Given the description of an element on the screen output the (x, y) to click on. 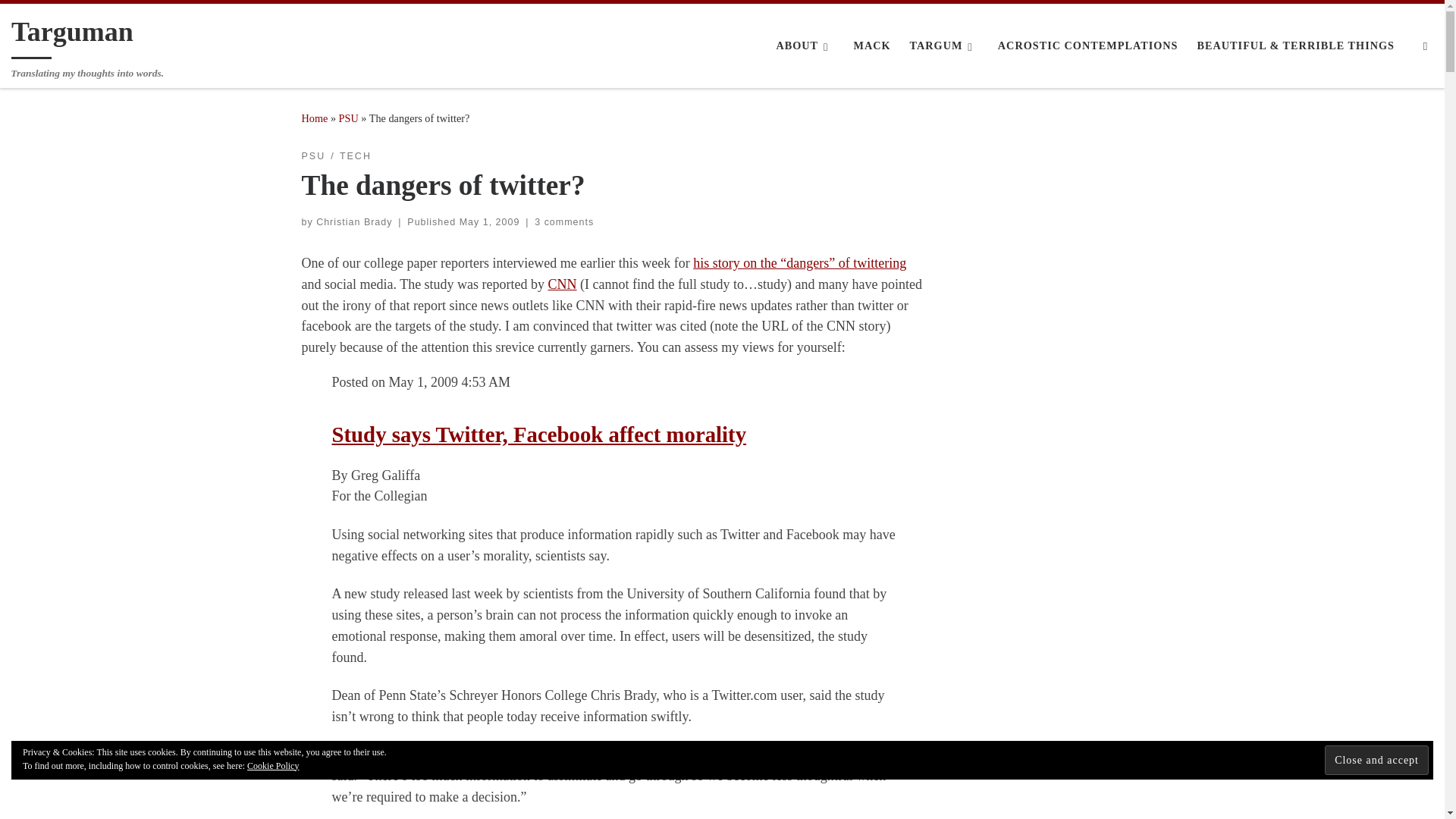
Targuman (72, 34)
PSU (348, 118)
3 Comments on The dangers of twitter? (564, 222)
View all posts by Christian Brady (353, 222)
View all posts in Tech (355, 156)
Scientists warn of rapid-fire media (562, 283)
3:04 pm (489, 222)
Close and accept (1376, 758)
MACK (871, 45)
Twitter study (538, 434)
